Given the description of an element on the screen output the (x, y) to click on. 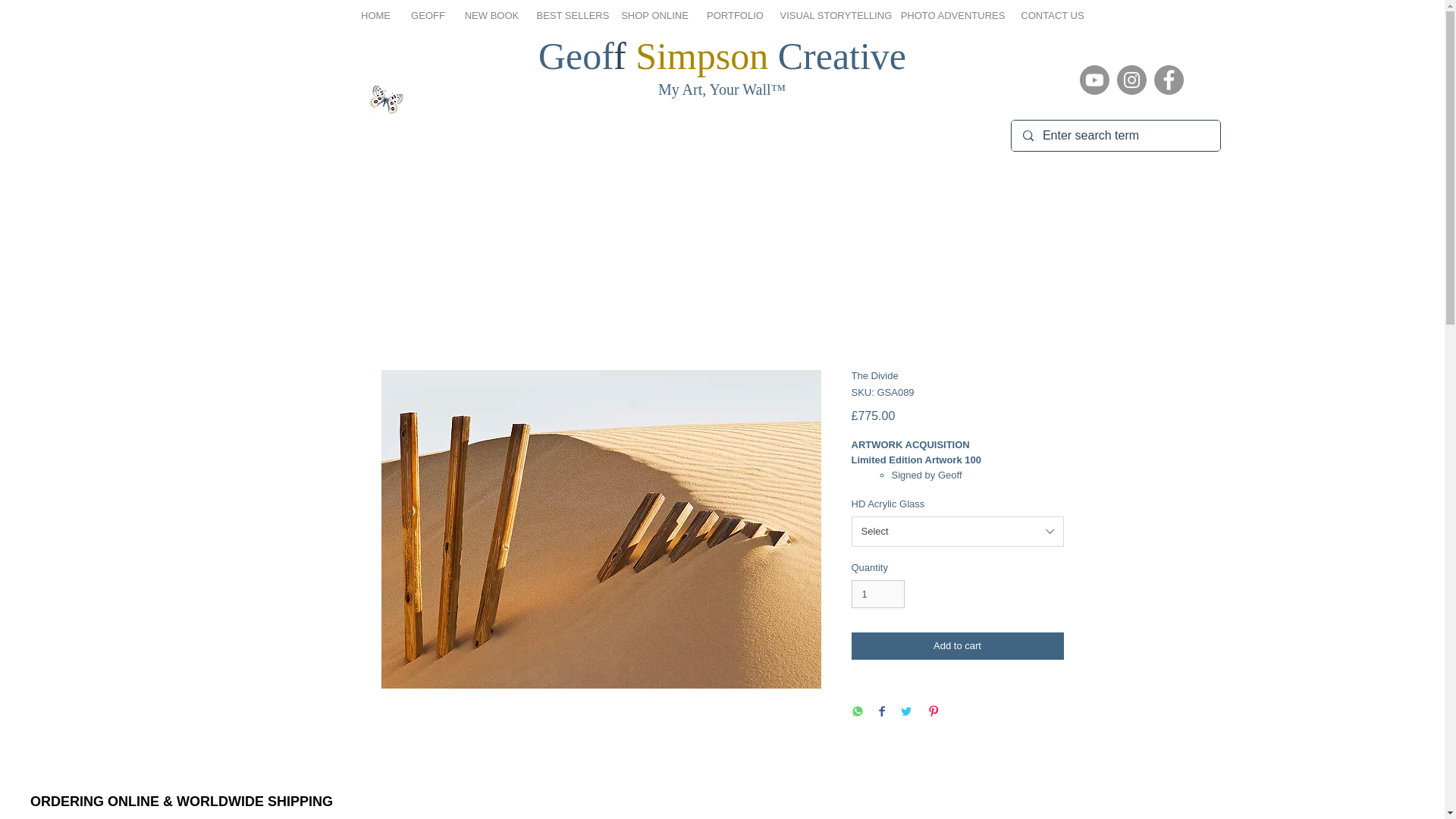
BEST SELLERS (570, 15)
PHOTO ADVENTURES (953, 15)
HOME (375, 15)
VISUAL STORYTELLING (831, 15)
SHOP ONLINE (654, 15)
PORTFOLIO (734, 15)
NEW BOOK (491, 15)
GEOFF (427, 15)
1 (877, 594)
